Given the description of an element on the screen output the (x, y) to click on. 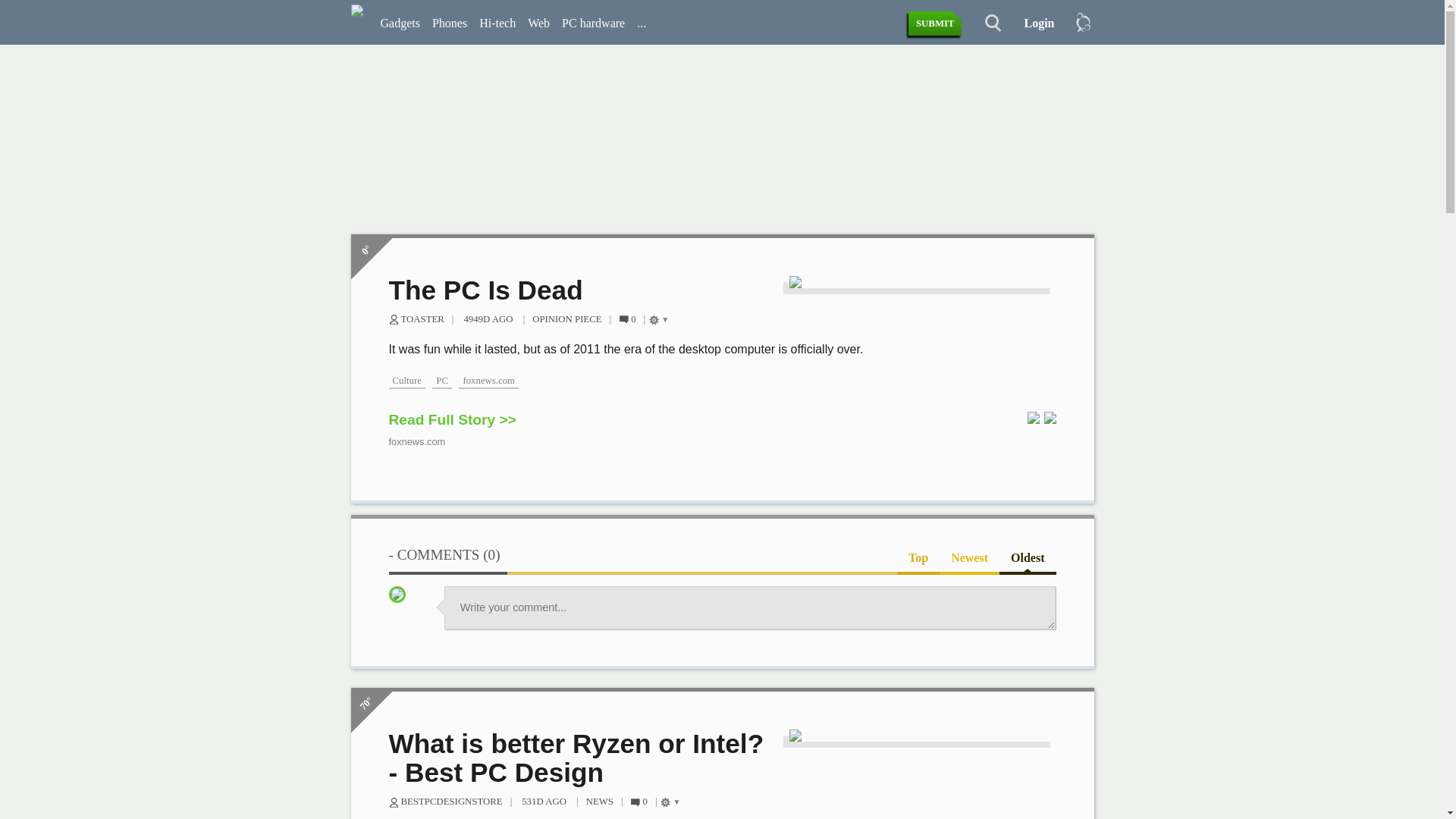
Hi-tech (497, 24)
Web (538, 24)
PC hardware (593, 24)
Phones (449, 24)
Login (1033, 23)
Gadgets (400, 24)
SUBMIT (935, 23)
Search (984, 23)
